Given the description of an element on the screen output the (x, y) to click on. 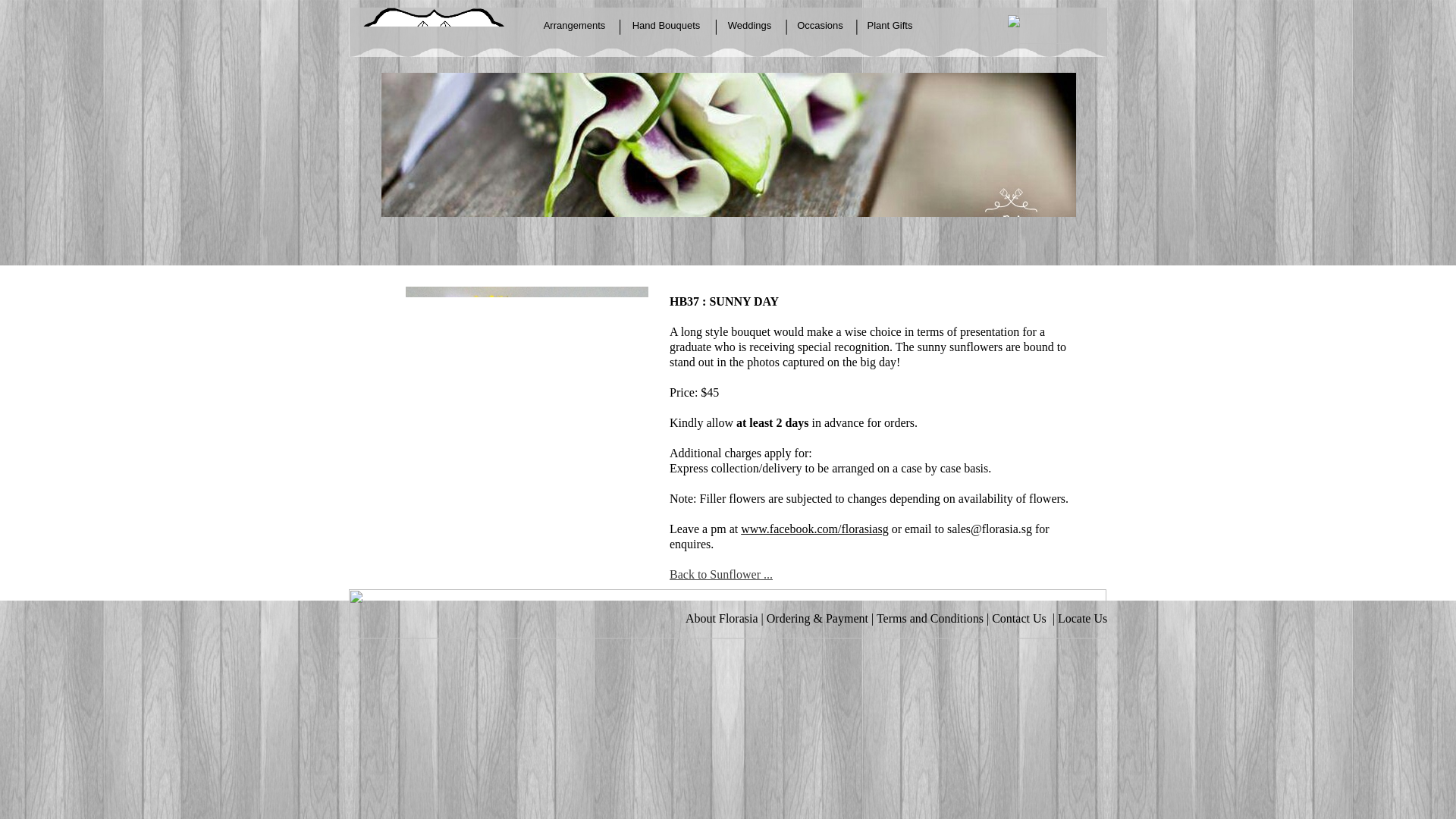
Back to Sunflower ... (721, 574)
About Florasia (721, 617)
Weddings (750, 26)
Terms and Conditions (930, 617)
Occasions (820, 26)
Plant Gifts (890, 26)
Contact Us (1020, 617)
Arrangements (575, 26)
Hand Bouquets (667, 26)
